Given the description of an element on the screen output the (x, y) to click on. 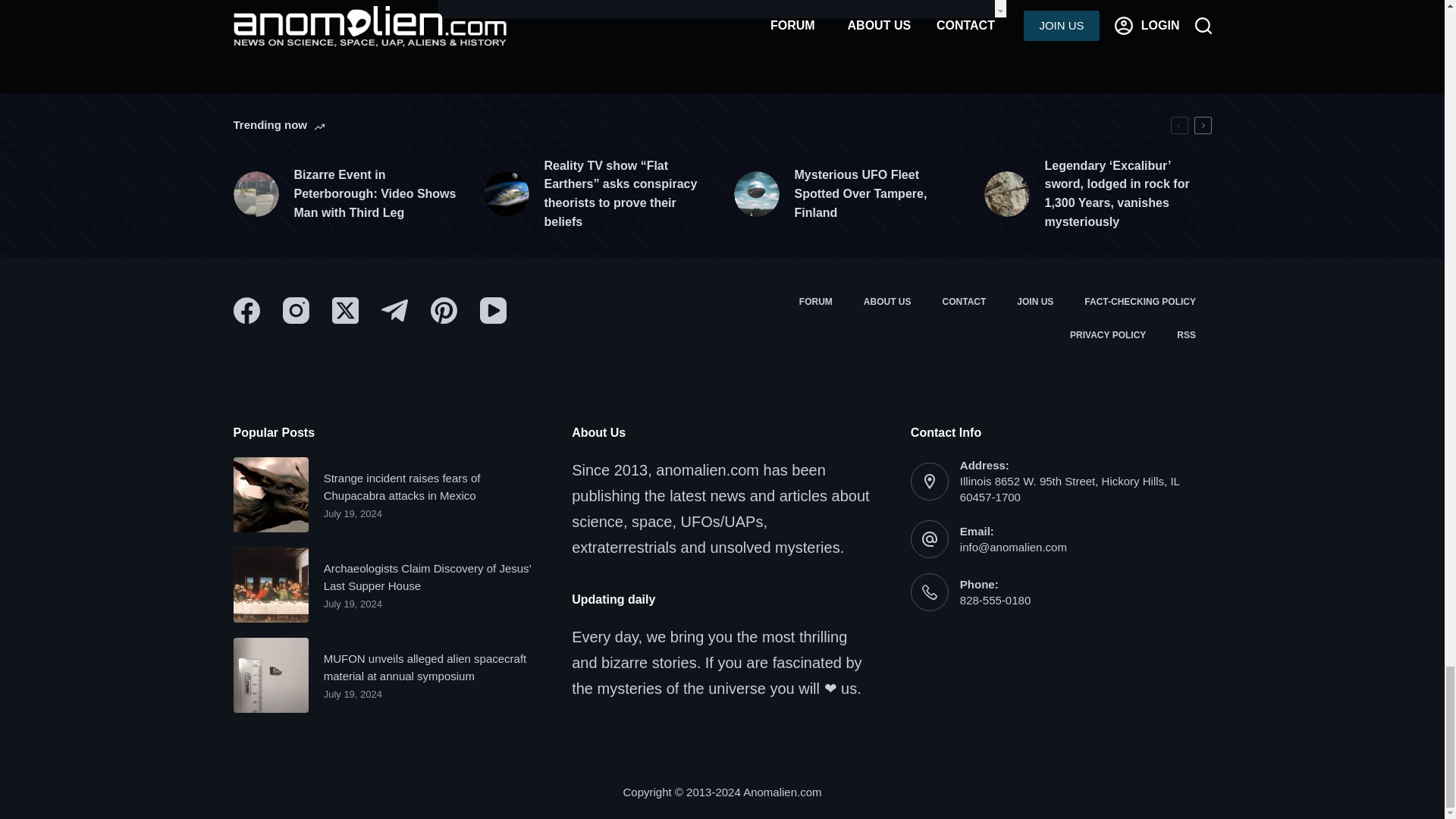
Discussion Forum (815, 302)
Contact us (964, 302)
Comments (722, 9)
